Given the description of an element on the screen output the (x, y) to click on. 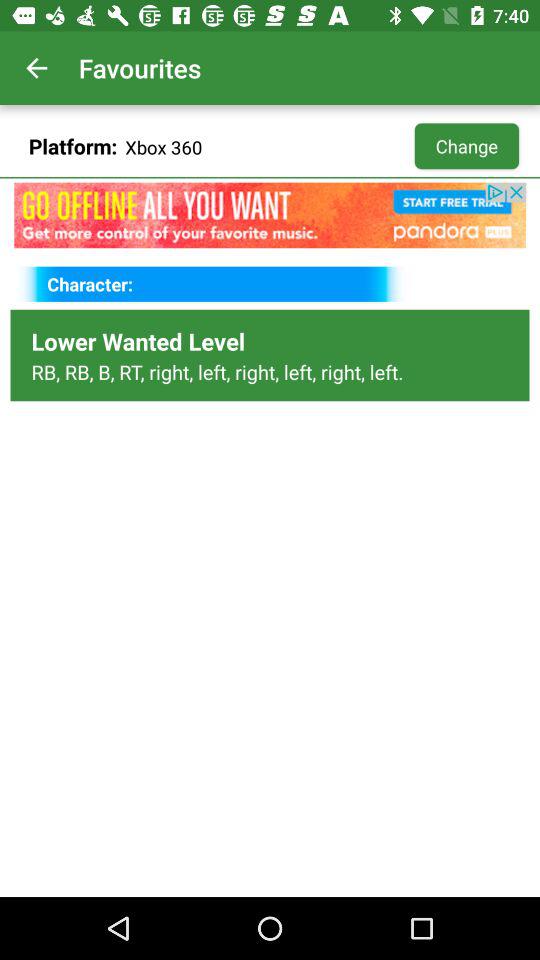
in app advertisement space (270, 215)
